Given the description of an element on the screen output the (x, y) to click on. 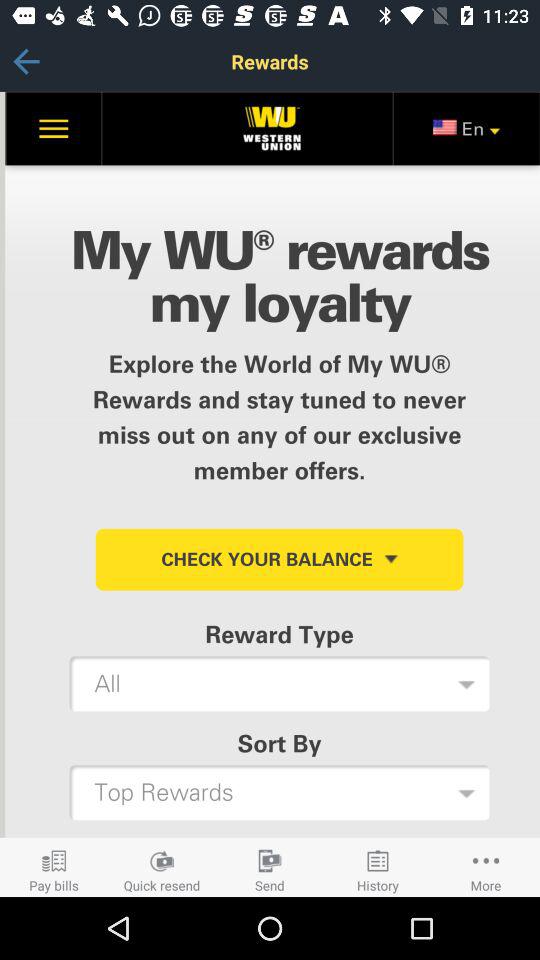
back (26, 61)
